Given the description of an element on the screen output the (x, y) to click on. 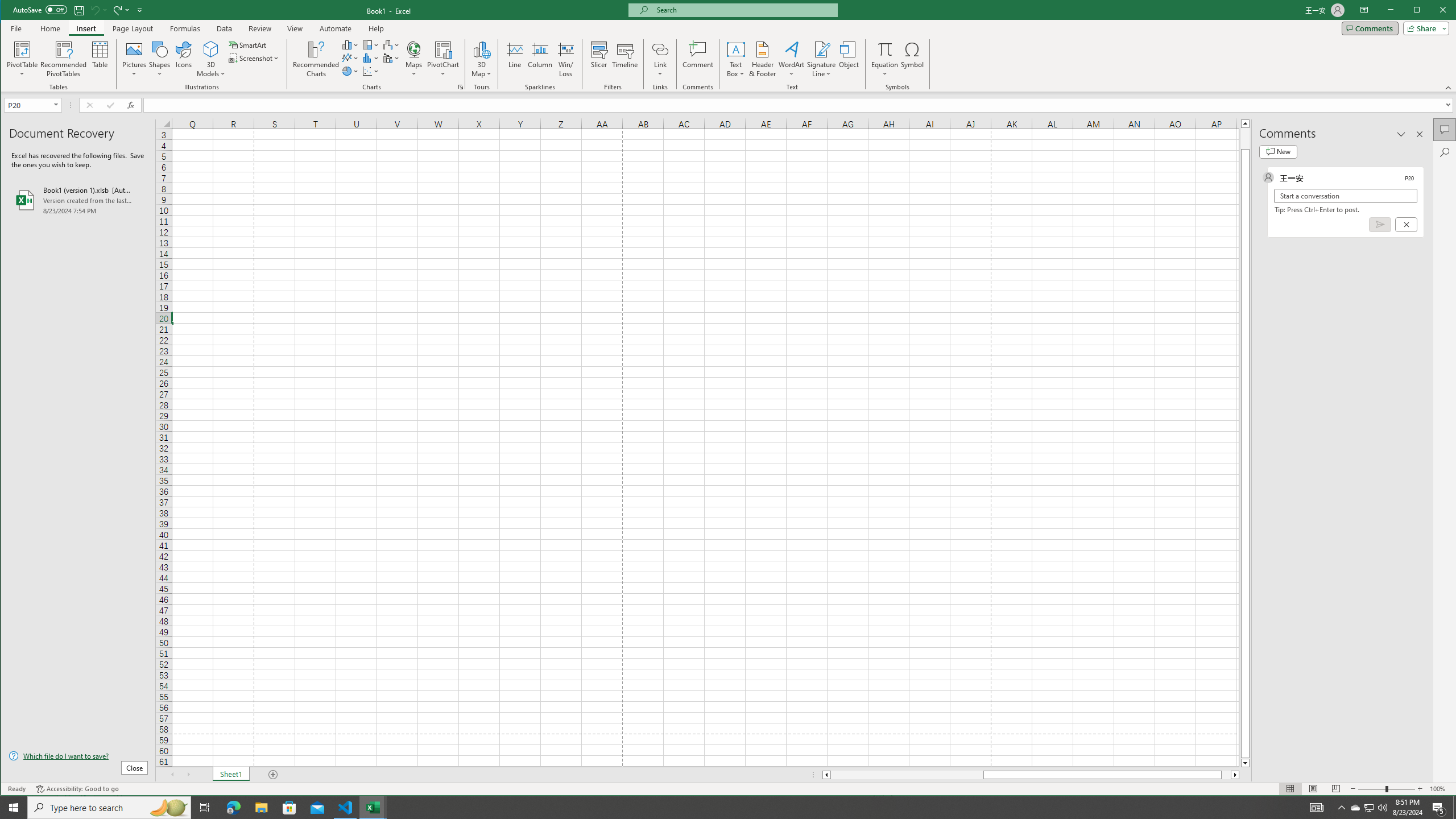
Comment (697, 59)
Slicer... (598, 59)
Excel - 2 running windows (373, 807)
Timeline (625, 59)
Link (659, 59)
